Given the description of an element on the screen output the (x, y) to click on. 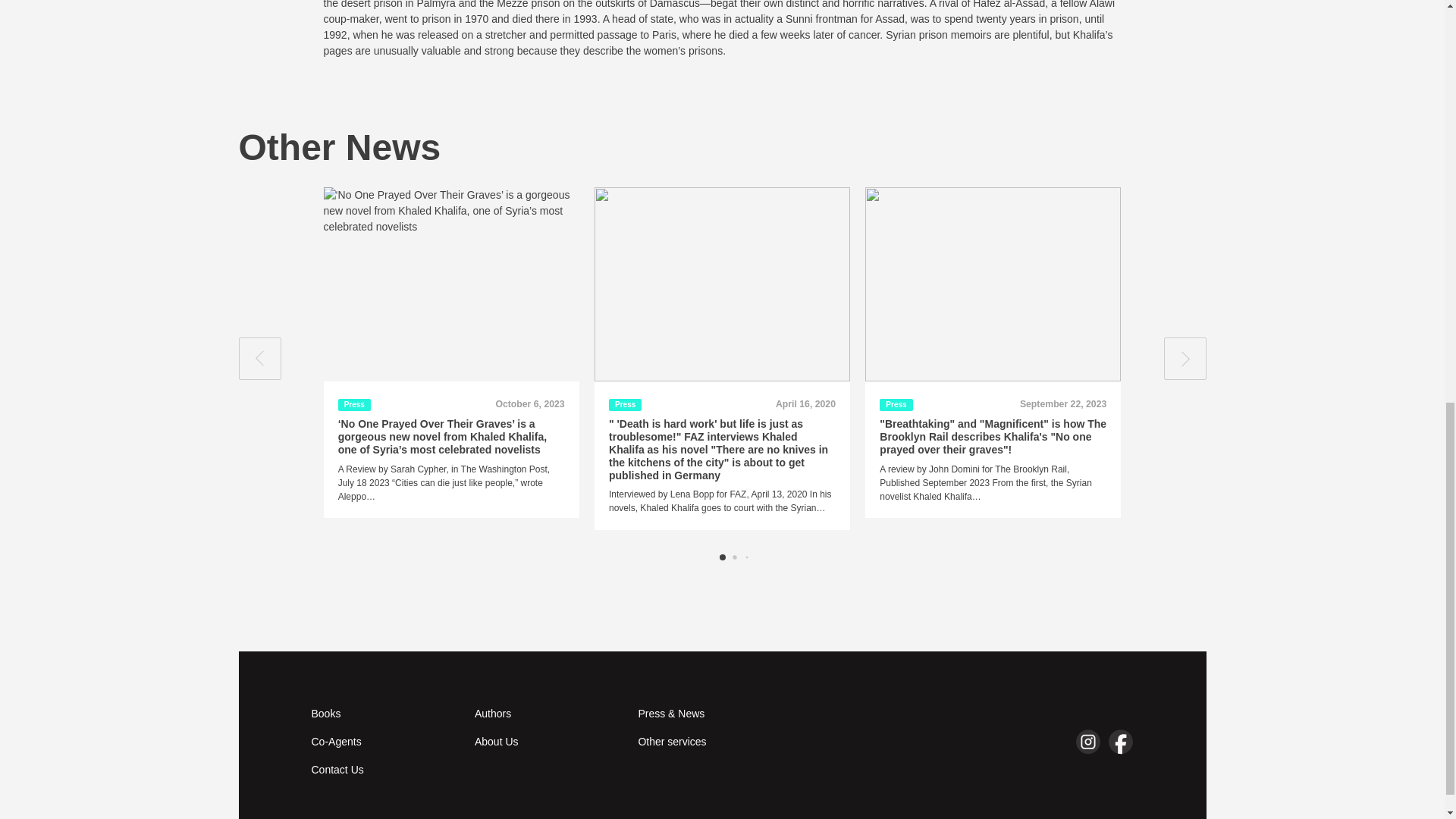
Contact Us (383, 770)
Books (383, 713)
About Us (547, 741)
Co-Agents (383, 741)
Other services (710, 741)
Authors (547, 713)
